Given the description of an element on the screen output the (x, y) to click on. 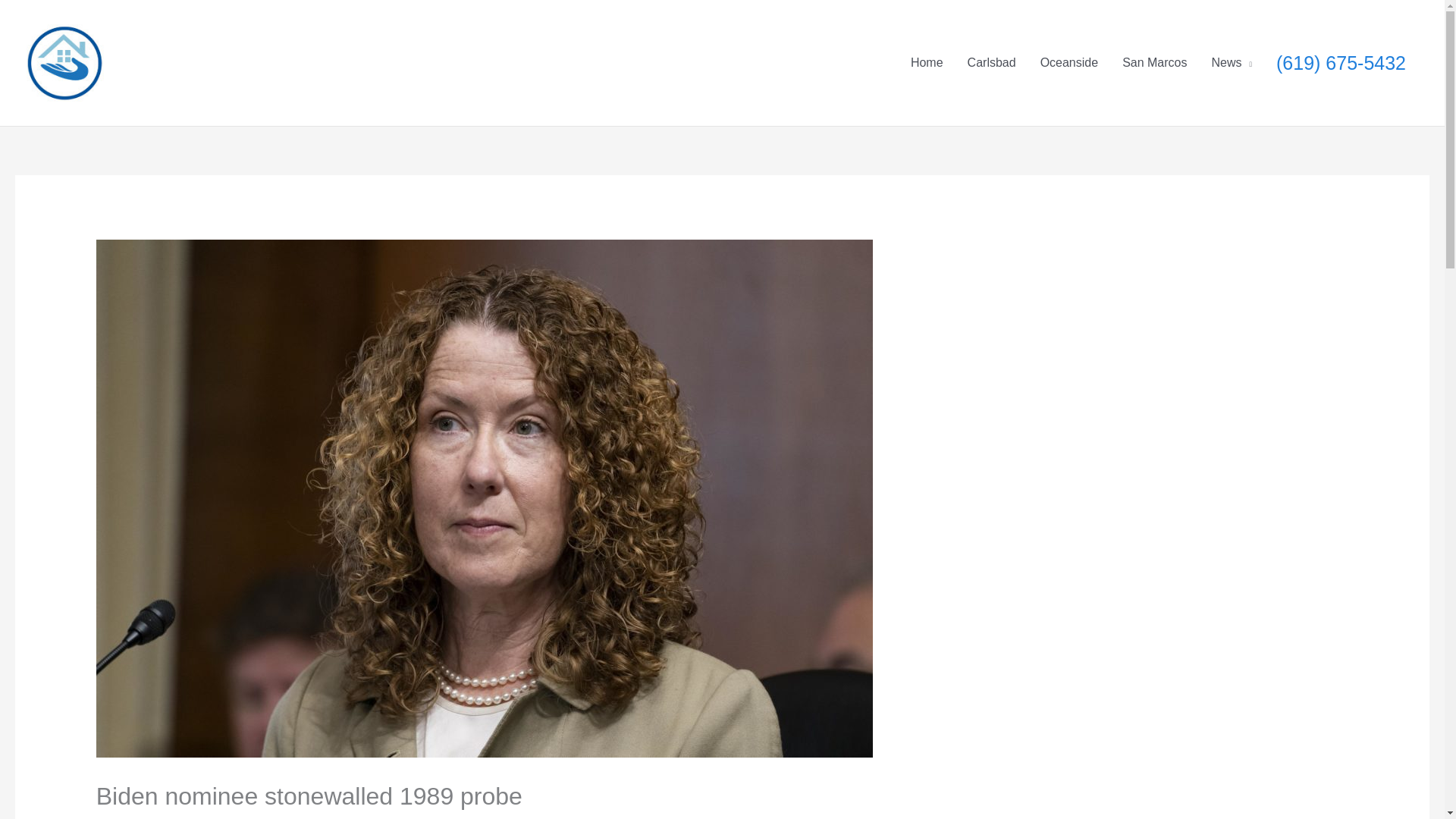
Oceanside (1068, 62)
News (1232, 62)
Home (926, 62)
San Marcos (1153, 62)
Carlsbad (991, 62)
